Given the description of an element on the screen output the (x, y) to click on. 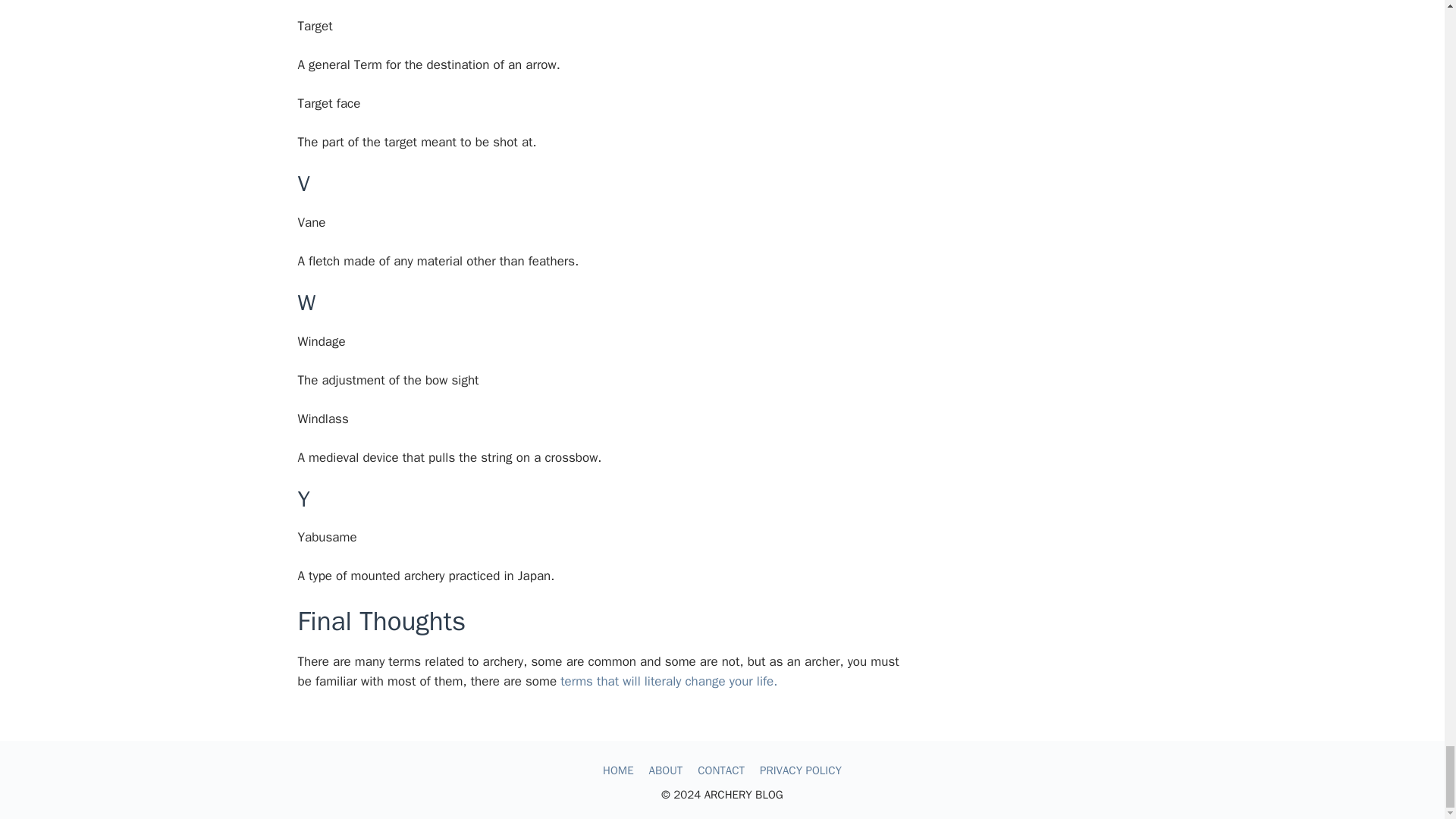
terms that will literaly change your life. (668, 681)
ABOUT (665, 770)
PRIVACY POLICY (800, 770)
HOME (617, 770)
CONTACT (720, 770)
